Given the description of an element on the screen output the (x, y) to click on. 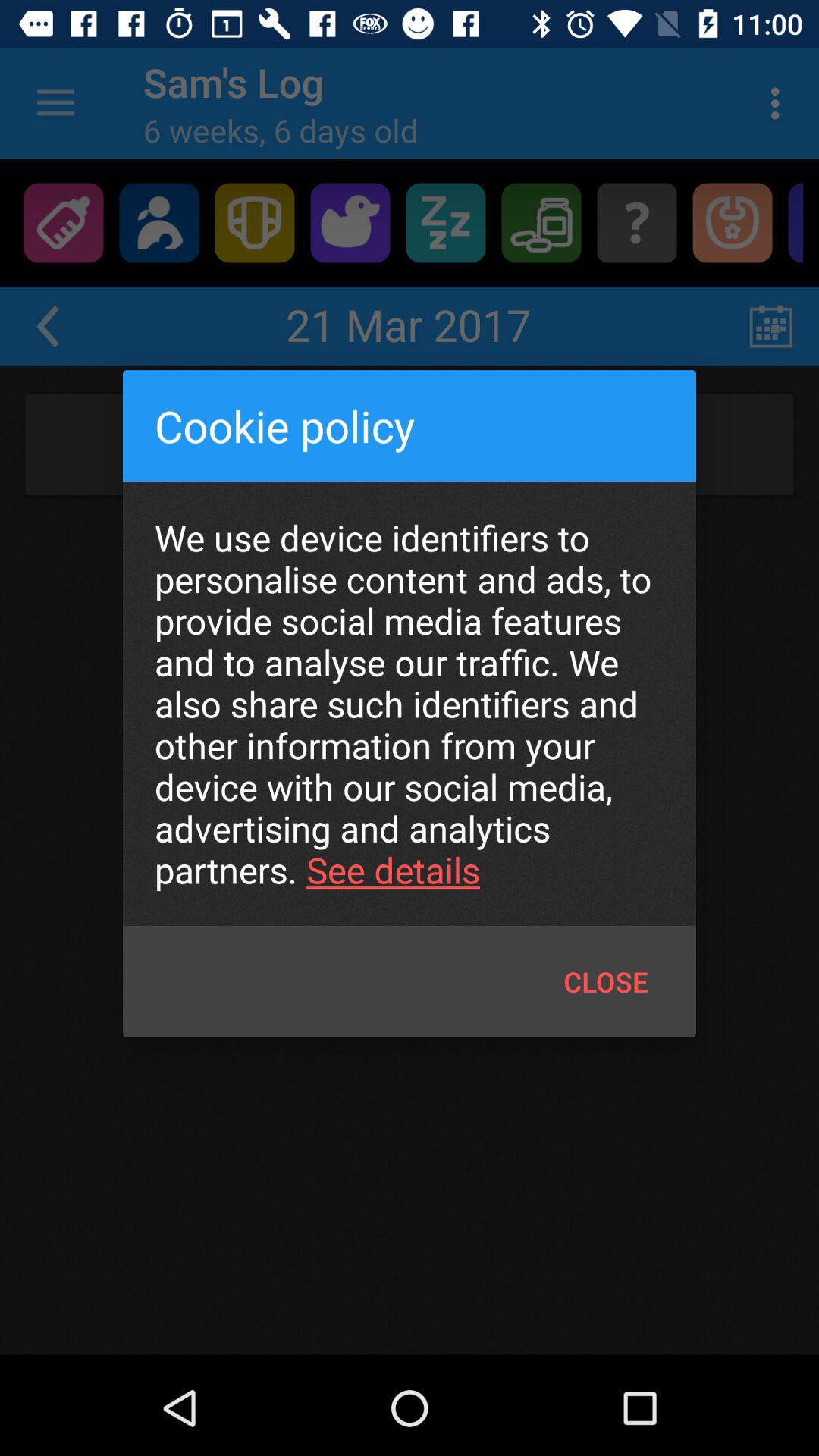
open we use device icon (409, 703)
